Given the description of an element on the screen output the (x, y) to click on. 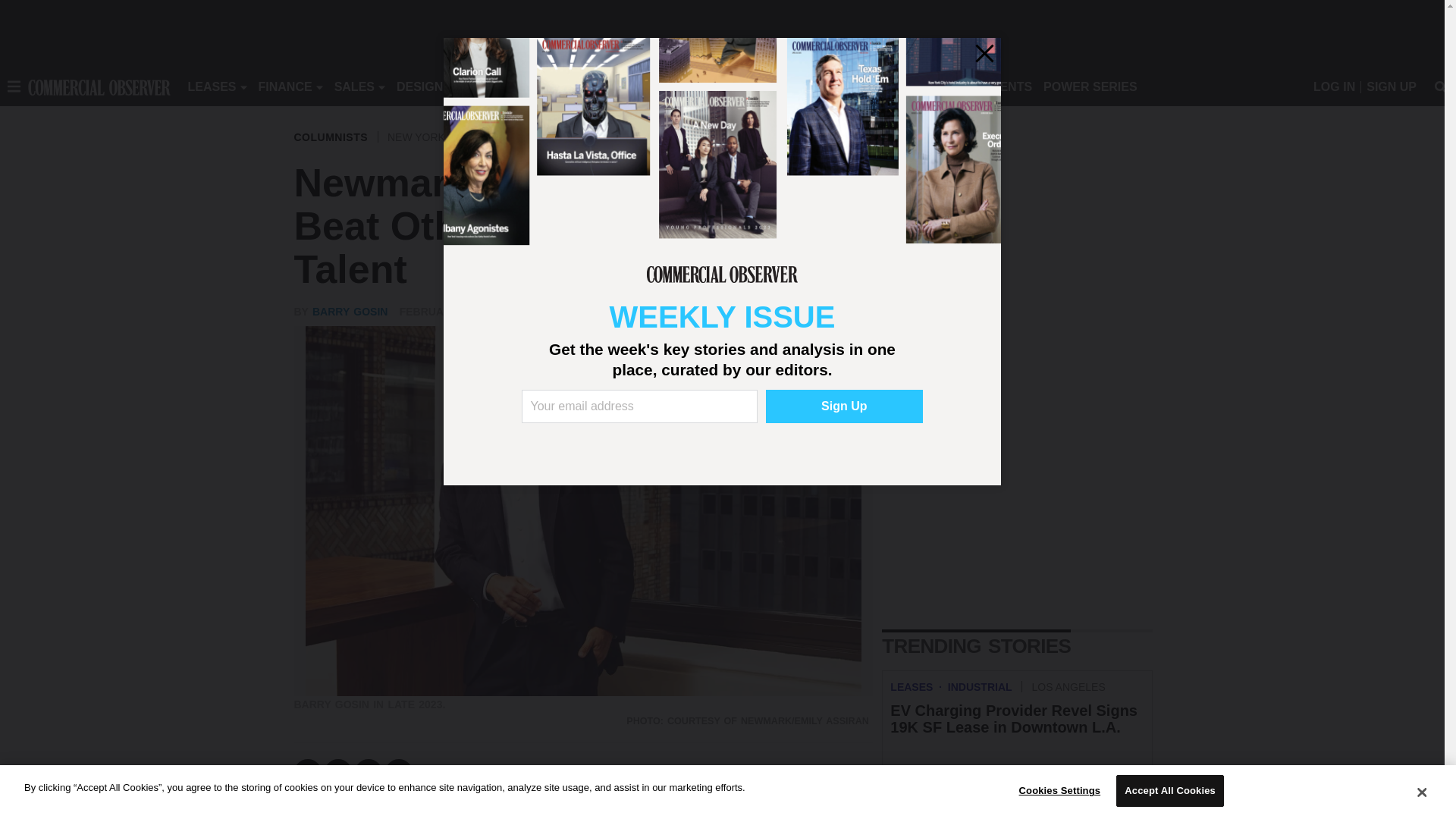
Share on LinkedIn (368, 772)
Commercial Observer Home (98, 86)
MORE (691, 86)
LEASES (211, 86)
Send email (398, 772)
Share on Facebook (307, 772)
SALES (354, 86)
FINANCE (286, 86)
Tweet (338, 772)
TECHNOLOGY (619, 86)
Posts by Barry Gosin (350, 311)
